Given the description of an element on the screen output the (x, y) to click on. 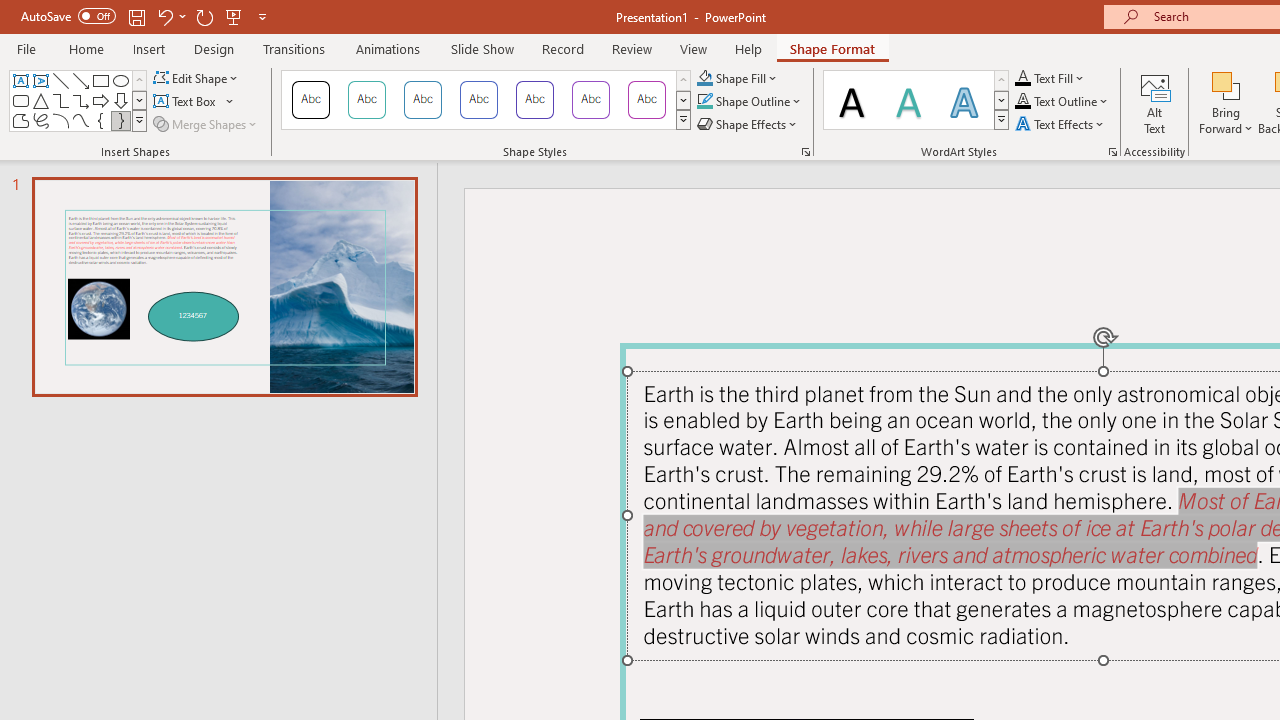
Colored Outline - Pink, Accent 6 (646, 100)
Bring Forward (1225, 84)
Colored Outline - Black, Dark 1 (310, 100)
Shape Outline (749, 101)
Shape Outline Teal, Accent 1 (704, 101)
Rectangle (100, 80)
Animations (388, 48)
Fill: Teal, Accent color 1; Shadow (908, 100)
Oval (120, 80)
From Beginning (234, 15)
Bring Forward (1225, 102)
Customize Quick Access Toolbar (262, 15)
Save (136, 15)
AutomationID: ShapesInsertGallery (78, 100)
